Given the description of an element on the screen output the (x, y) to click on. 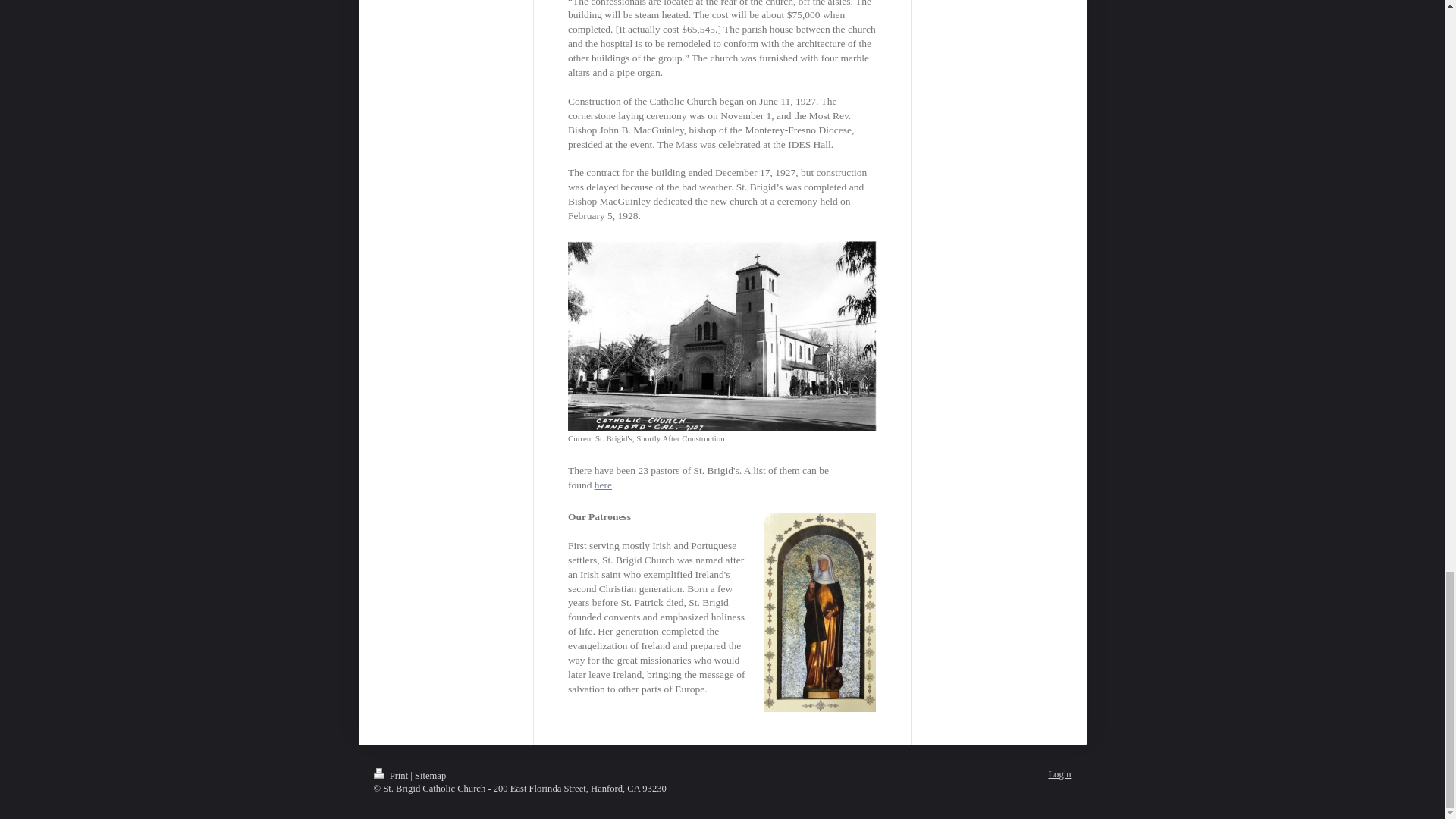
Current St. Brigid's, Shortly After Construction (721, 341)
